Given the description of an element on the screen output the (x, y) to click on. 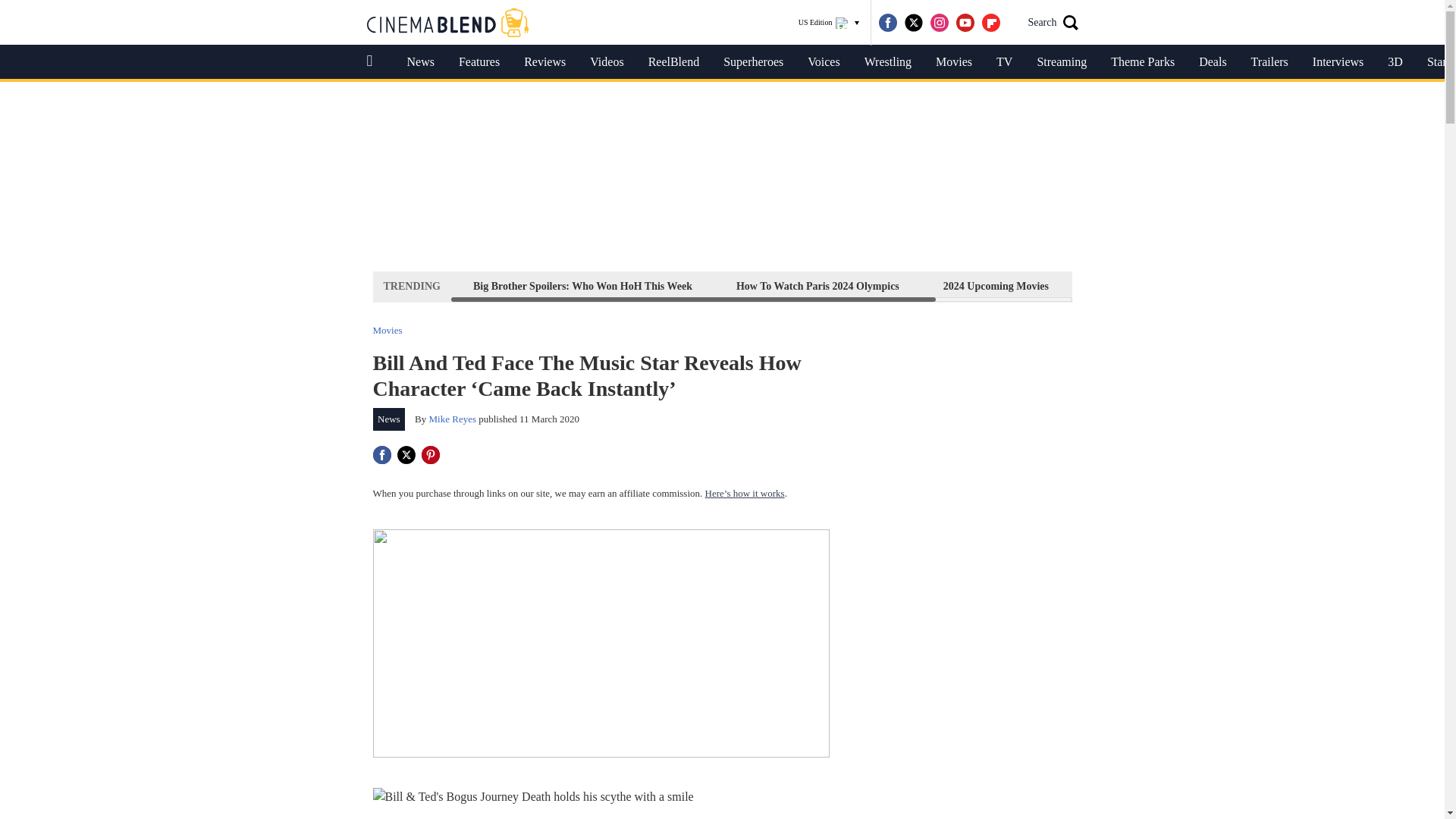
News (389, 418)
Features (479, 61)
News (419, 61)
ReelBlend (673, 61)
Wrestling (887, 61)
Superheroes (752, 61)
Movies (387, 329)
Big Brother Spoilers: Who Won HoH This Week (582, 286)
Videos (606, 61)
Theme Parks (1142, 61)
How To Watch Paris 2024 Olympics (817, 286)
2024 Upcoming Movies (995, 286)
Voices (822, 61)
100 Best Sitcoms Of All Time (1158, 286)
US Edition (828, 22)
